Given the description of an element on the screen output the (x, y) to click on. 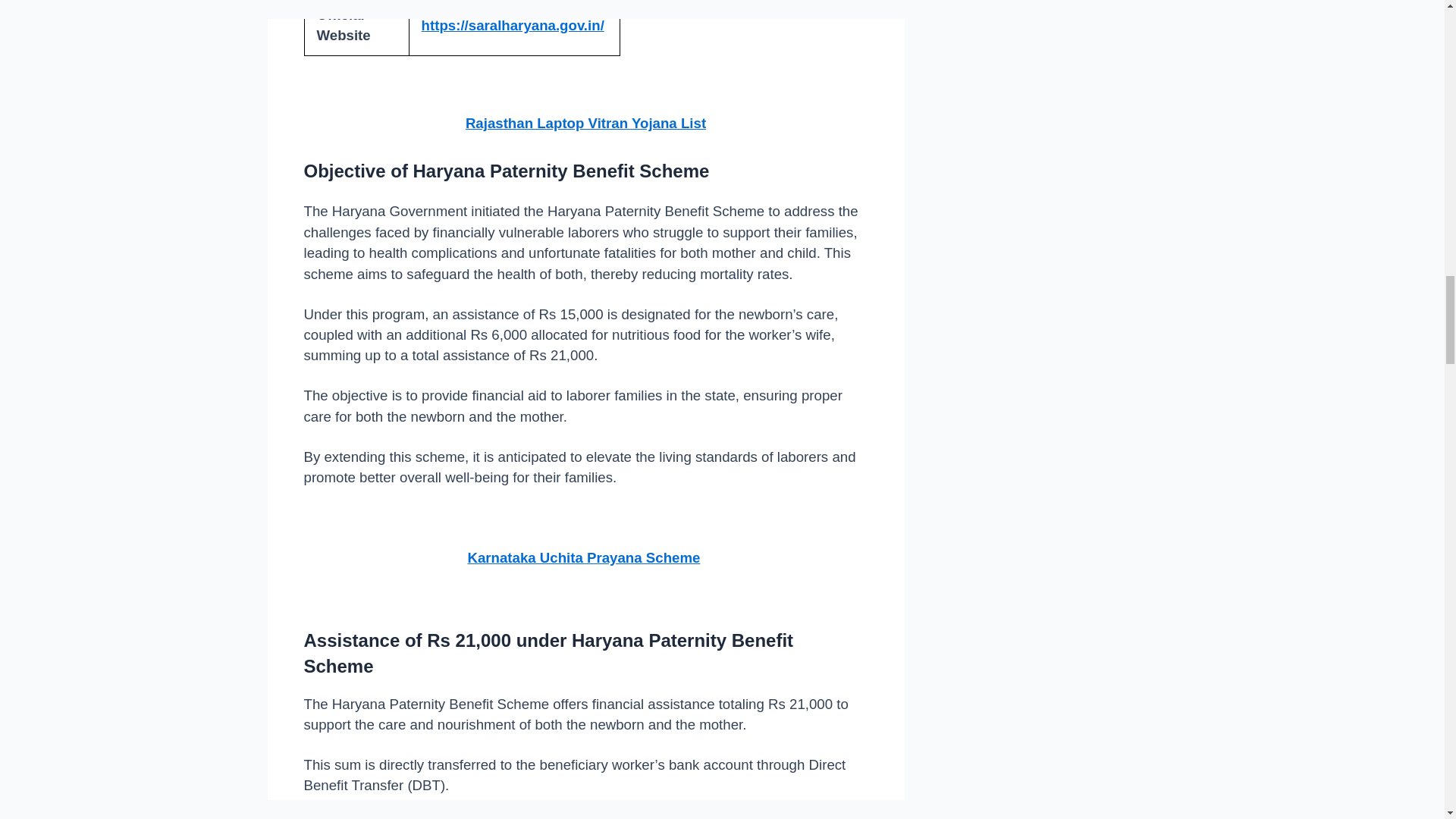
Rajasthan Laptop Vitran Yojana List (585, 123)
Karnataka Uchita Prayana Scheme (583, 557)
